Given the description of an element on the screen output the (x, y) to click on. 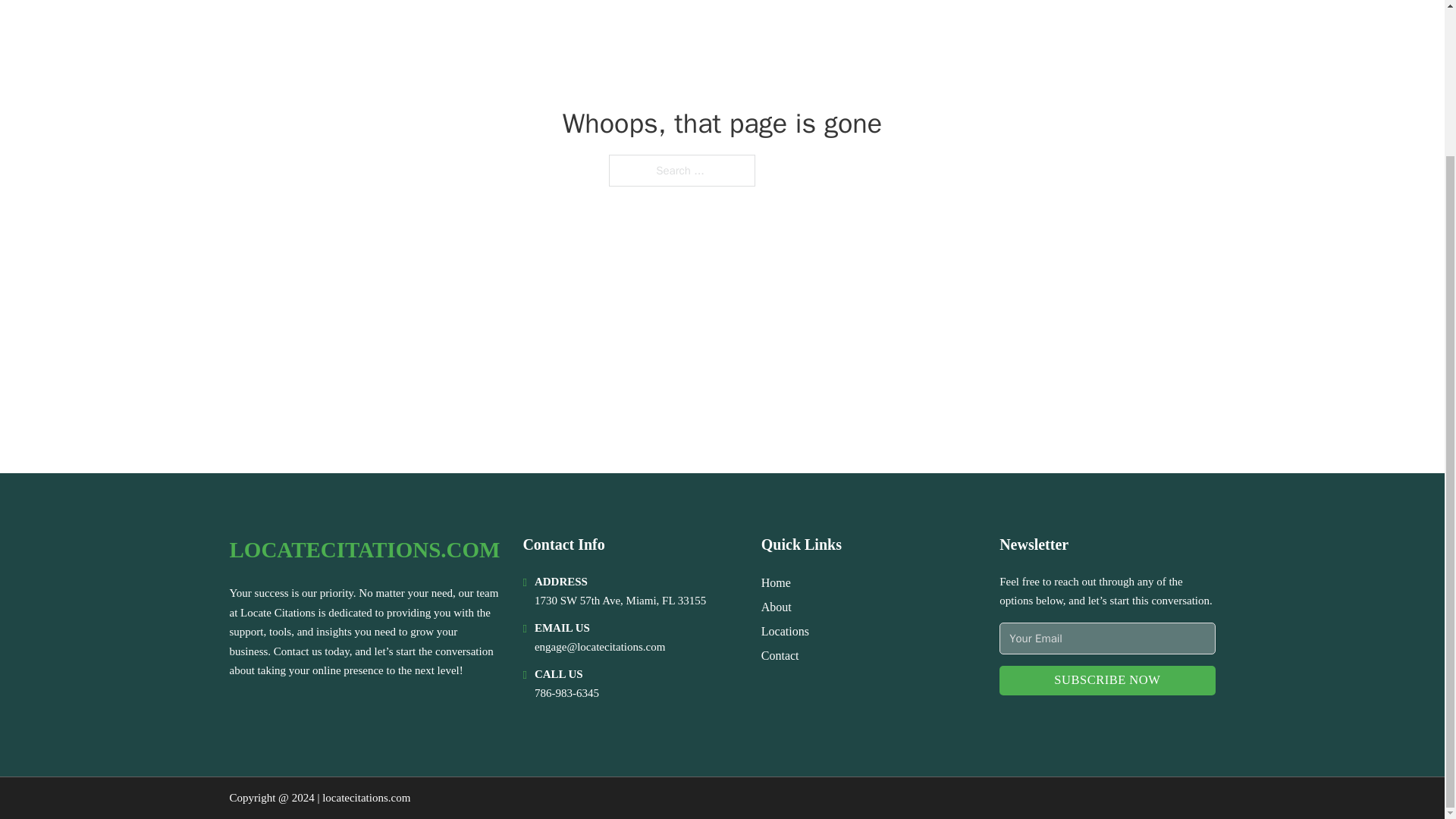
Home (775, 582)
Contact (780, 655)
LOCATECITATIONS.COM (363, 549)
About (776, 607)
Locations (785, 630)
SUBSCRIBE NOW (1106, 680)
786-983-6345 (566, 693)
